Given the description of an element on the screen output the (x, y) to click on. 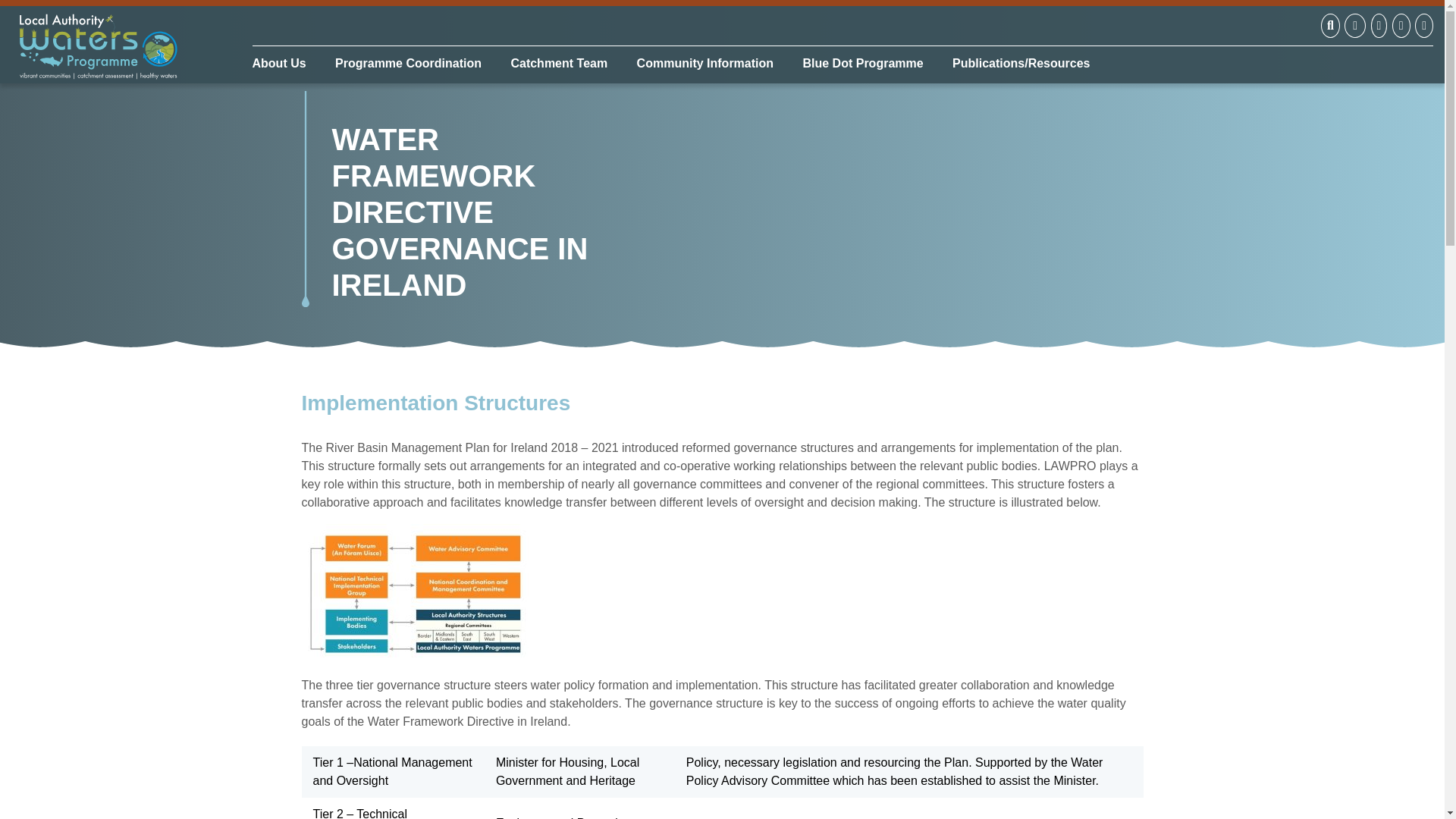
Community Information (705, 63)
About Us (284, 63)
Catchment Team (558, 63)
Programme Coordination (408, 63)
